Given the description of an element on the screen output the (x, y) to click on. 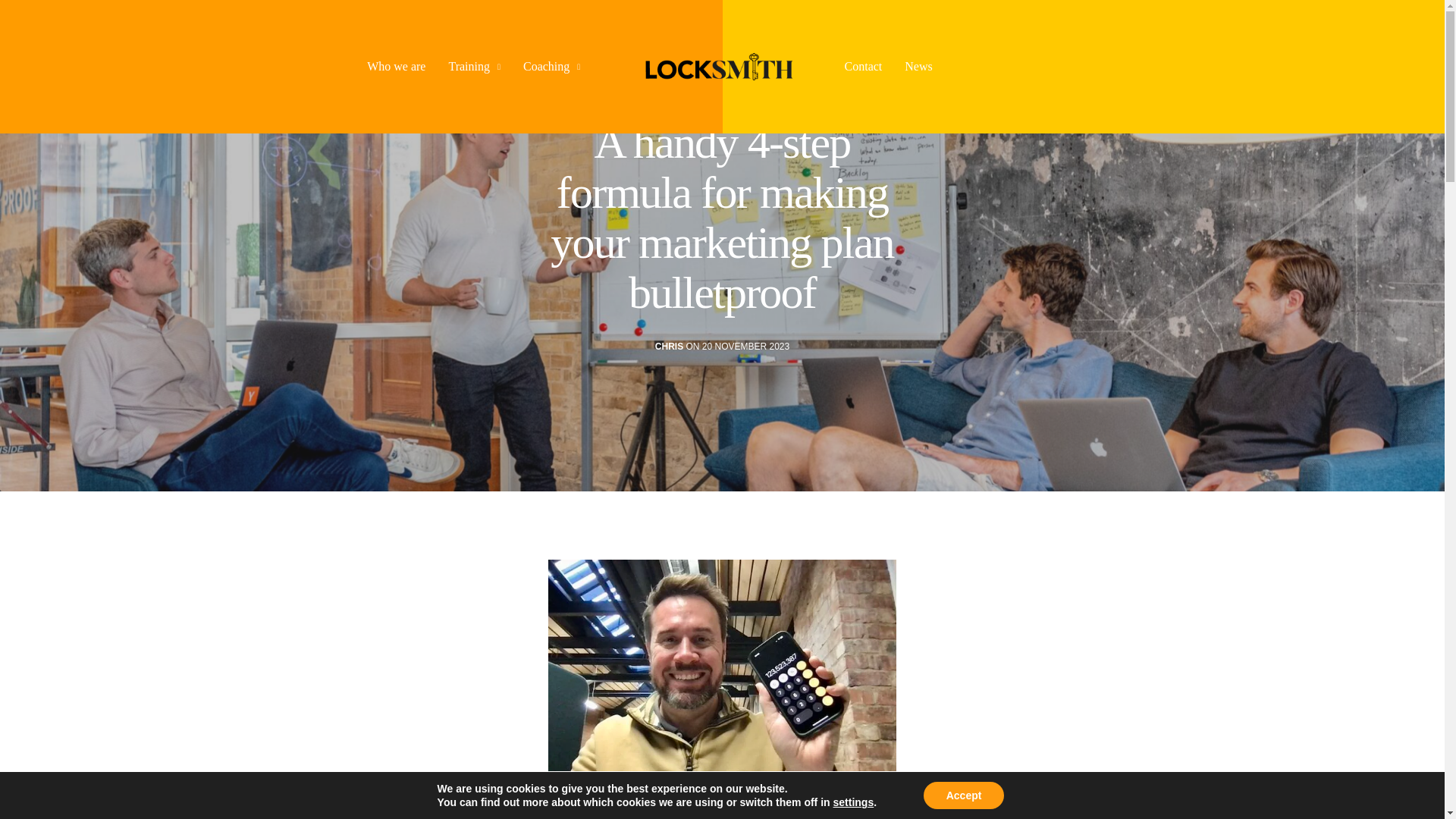
Who we are (395, 66)
Training (474, 66)
Coaching (550, 66)
Posts by Chris (668, 346)
LockSmith (711, 66)
CHRIS (668, 346)
Contact (863, 66)
